Given the description of an element on the screen output the (x, y) to click on. 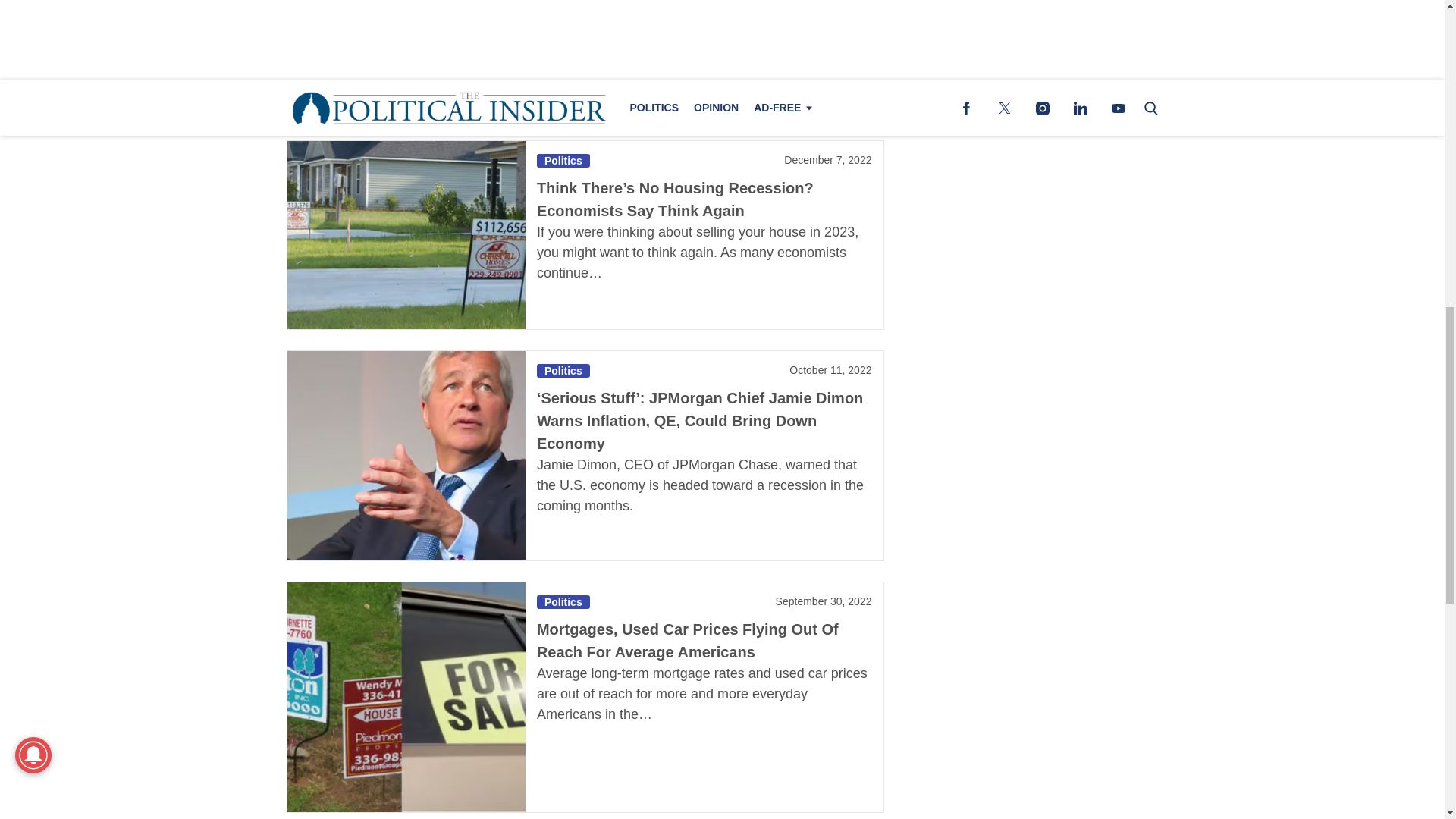
Federalreserve, Public domain, via Wikimedia Commons (405, 59)
Federal Reserve Hikes Rates Again as Inflation Persists (673, 4)
Federal Reserve Hikes Rates Again as Inflation Persists (405, 59)
Politics (563, 370)
Politics (563, 160)
Politics (563, 602)
